Given the description of an element on the screen output the (x, y) to click on. 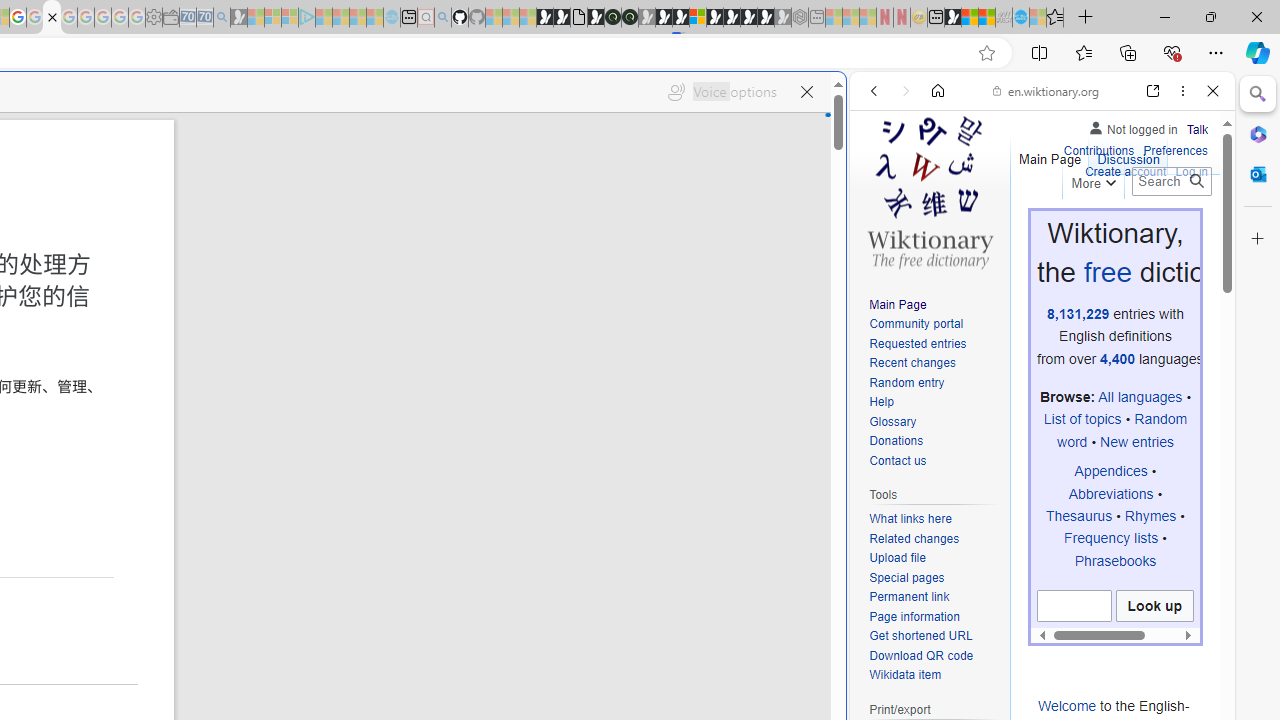
Talk (1197, 126)
Search Filter, Search Tools (1093, 228)
Settings - Sleeping (153, 17)
Close split screen (844, 102)
Recent changes (912, 362)
Close read aloud (805, 92)
Requested entries (917, 343)
Main Page (897, 303)
Random entry (906, 382)
Page information (914, 616)
